Given the description of an element on the screen output the (x, y) to click on. 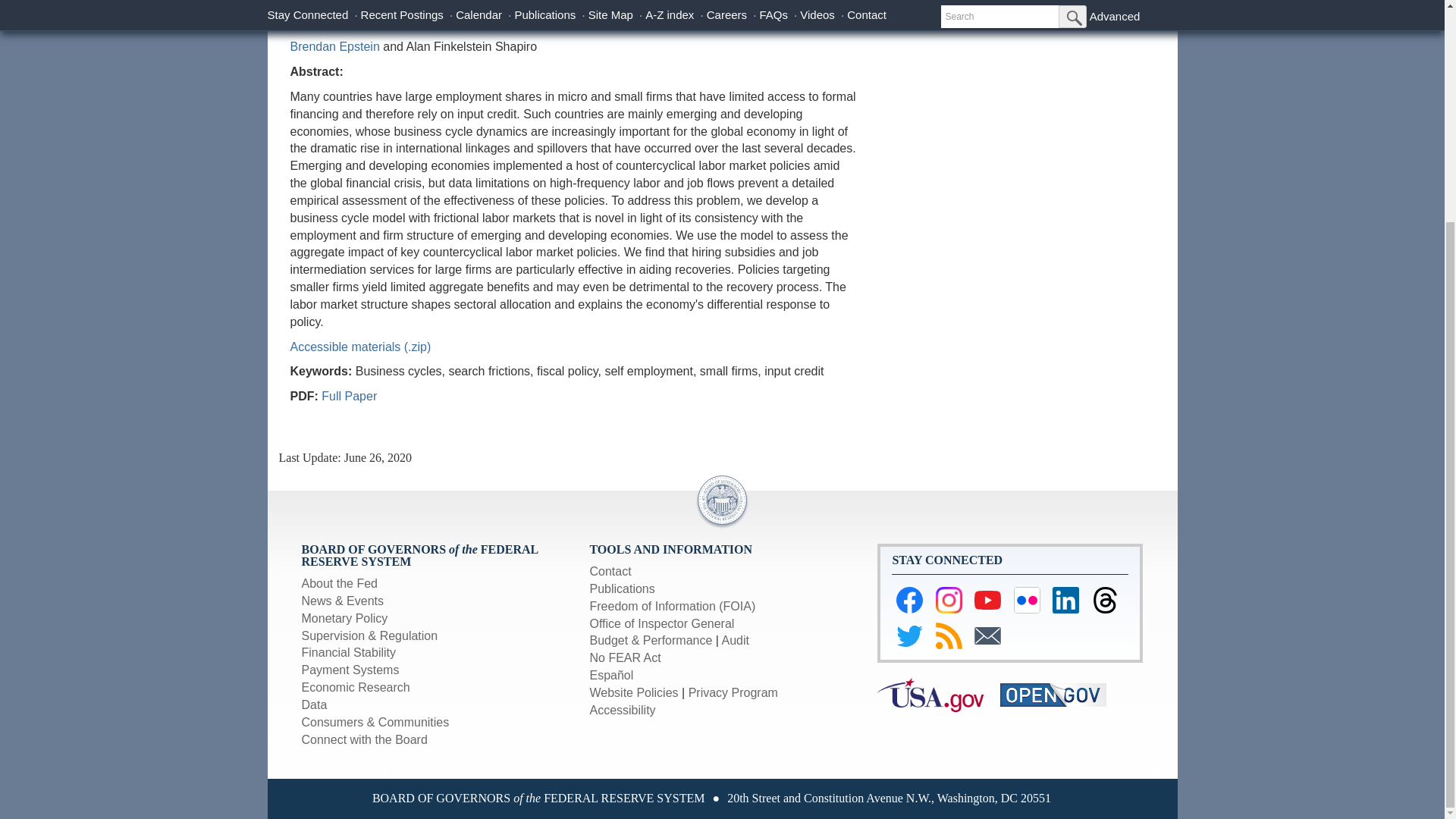
Link to Open.gov (1059, 694)
Link to USA.gov (938, 694)
